Given the description of an element on the screen output the (x, y) to click on. 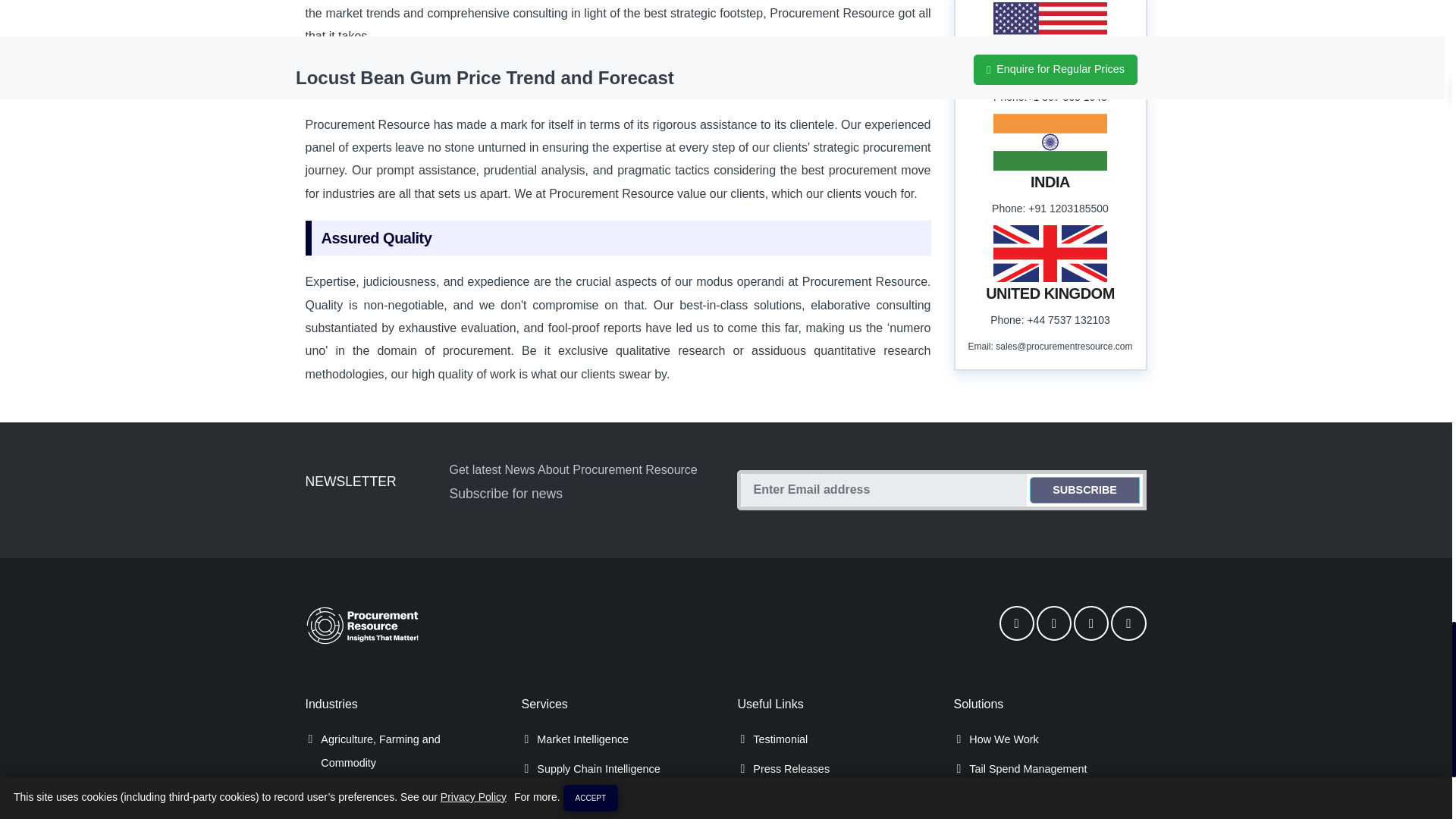
Instragram (1127, 623)
Twitter (1053, 623)
Linkedin (1091, 623)
Facebook (1015, 623)
